Given the description of an element on the screen output the (x, y) to click on. 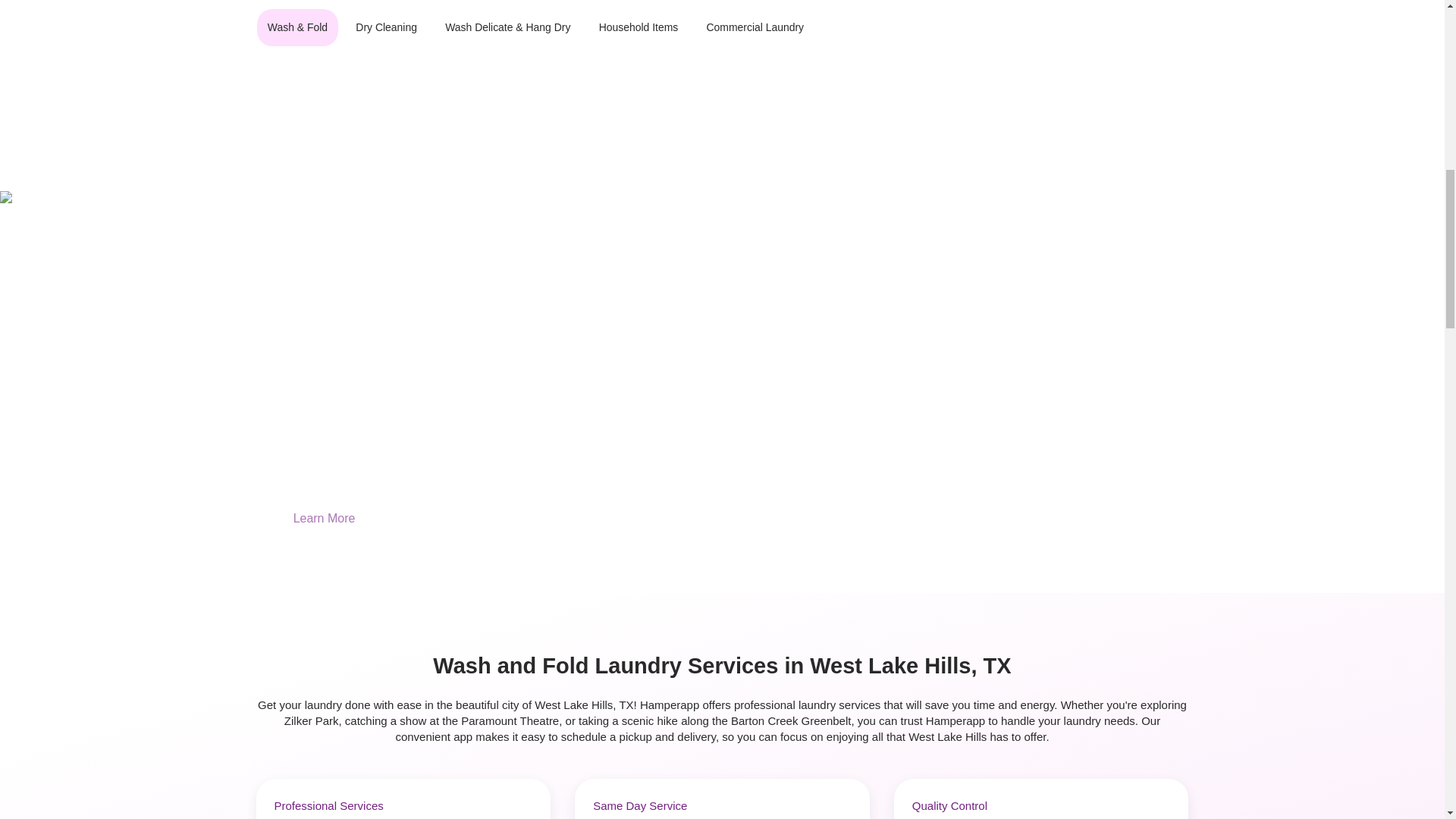
Learn More (324, 518)
